Given the description of an element on the screen output the (x, y) to click on. 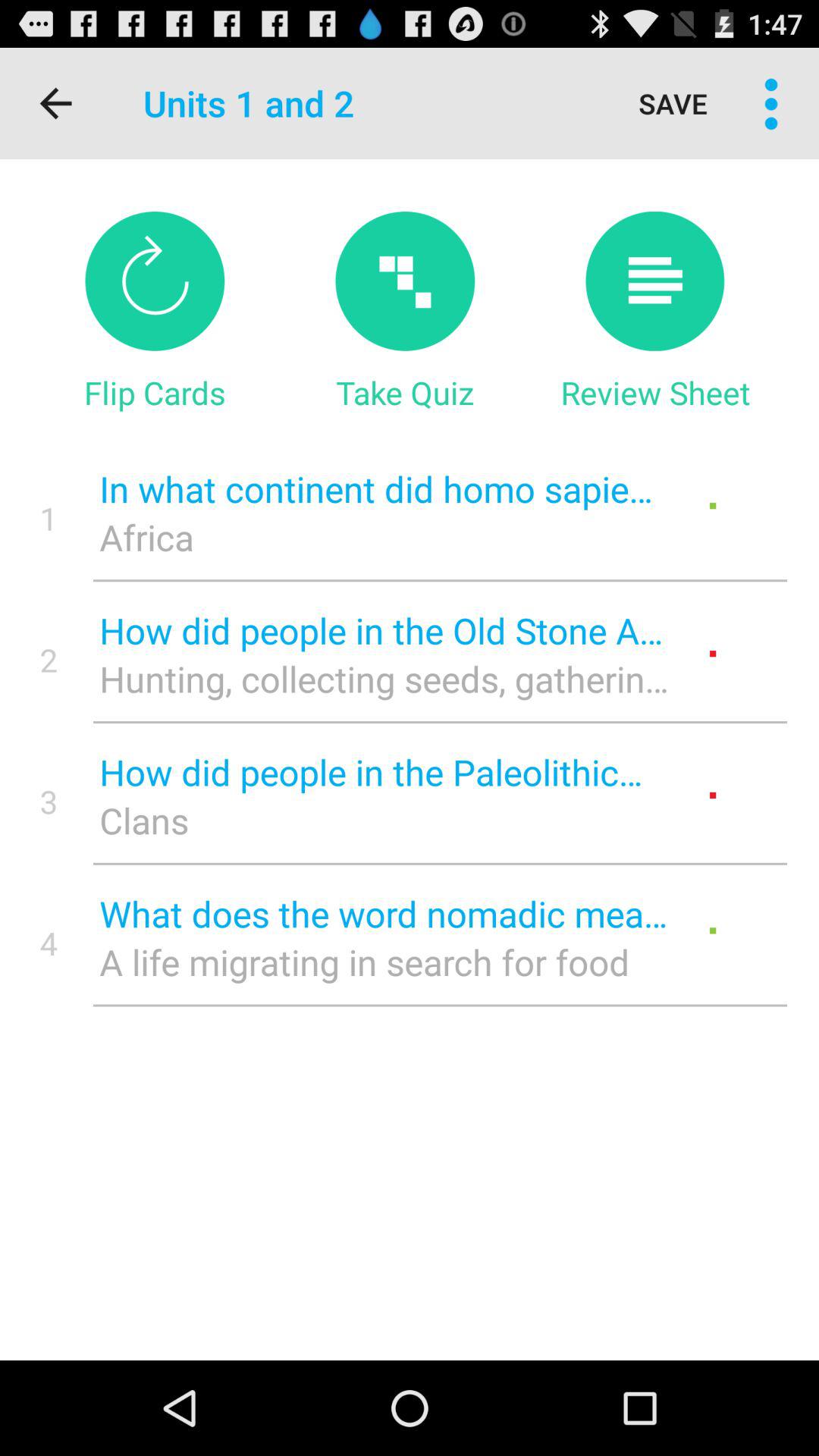
review sheet (655, 280)
